Given the description of an element on the screen output the (x, y) to click on. 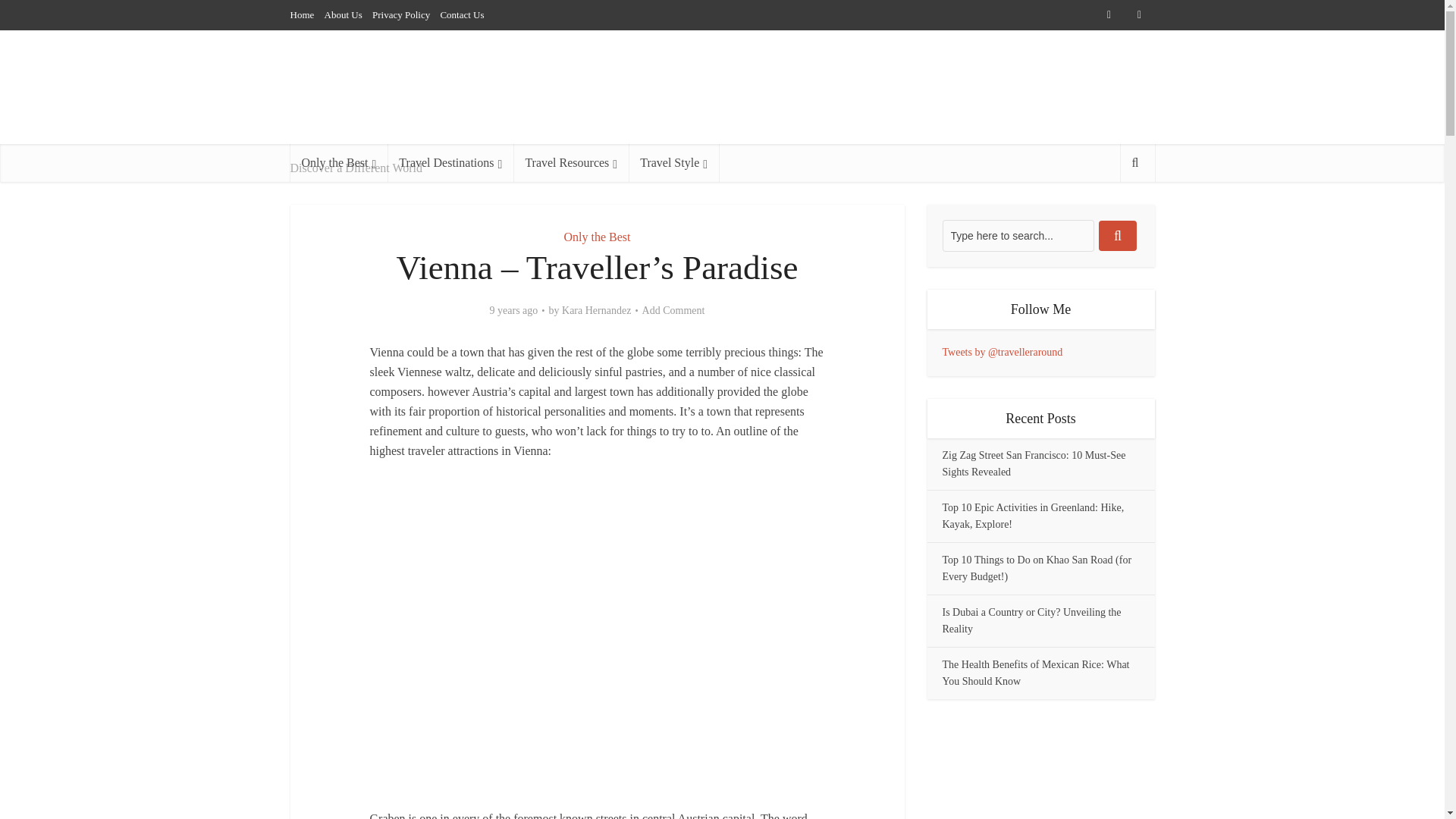
Add Comment (673, 310)
Travel Resources (570, 162)
Privacy Policy (400, 14)
Type here to search... (1017, 235)
Travel Style (673, 162)
Only the Best (338, 162)
About Us (343, 14)
Home (301, 14)
Travel Destinations (450, 162)
Traveller All Around (402, 98)
